Given the description of an element on the screen output the (x, y) to click on. 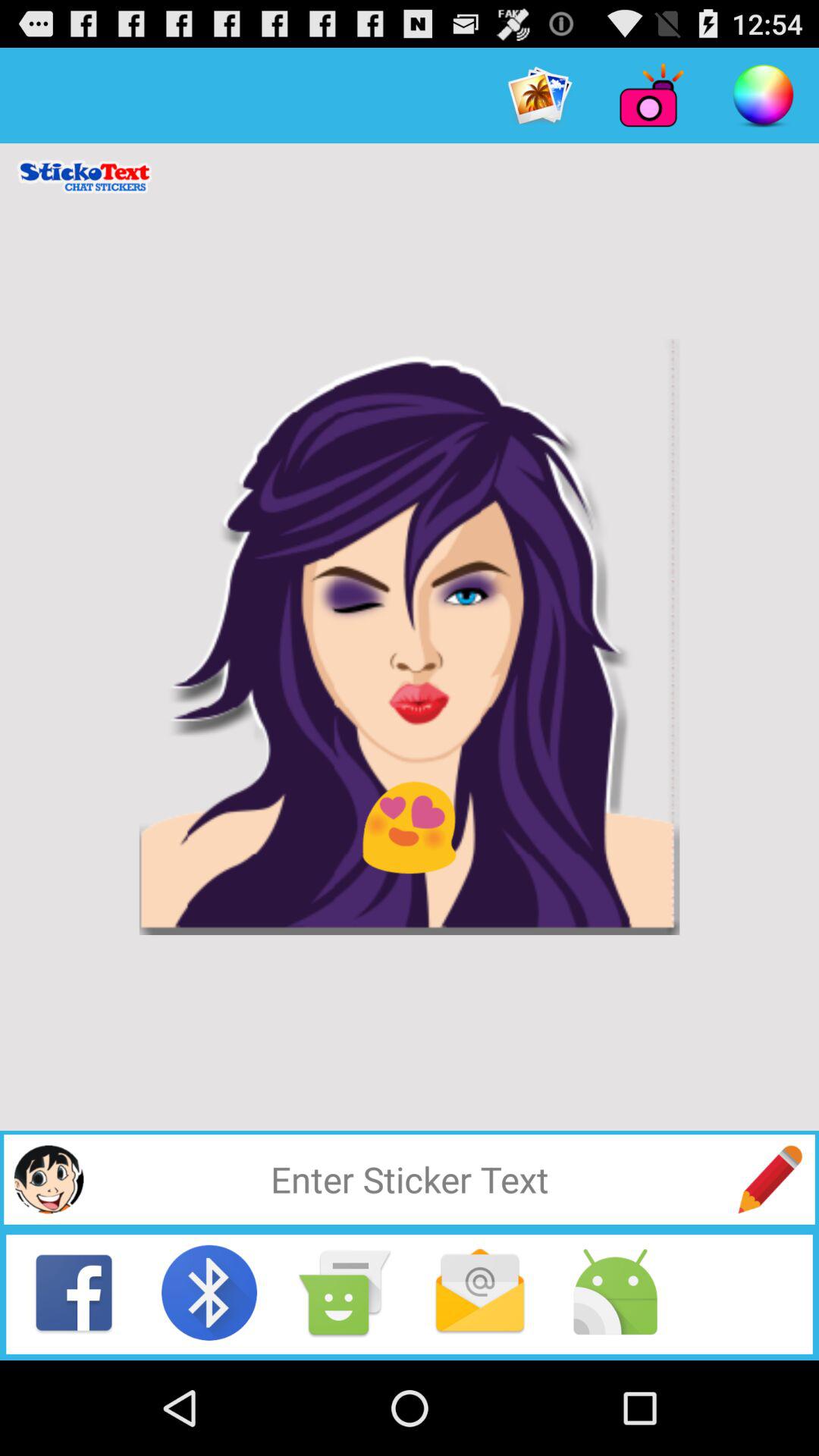
android share (615, 1292)
